Given the description of an element on the screen output the (x, y) to click on. 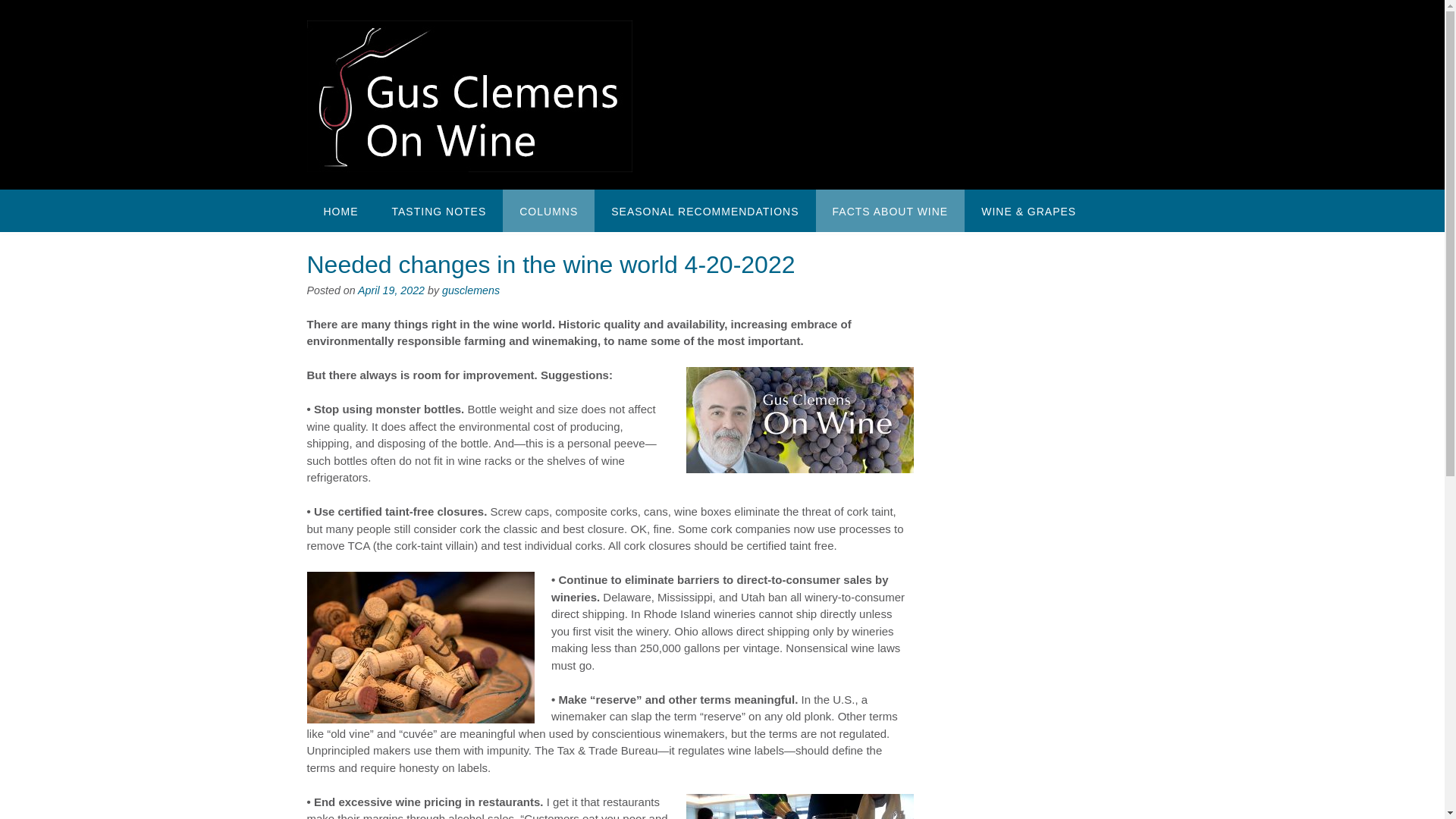
COLUMNS (548, 210)
gusclemens (470, 290)
HOME (339, 210)
SEASONAL RECOMMENDATIONS (704, 210)
TASTING NOTES (438, 210)
April 19, 2022 (391, 290)
FACTS ABOUT WINE (890, 210)
